Given the description of an element on the screen output the (x, y) to click on. 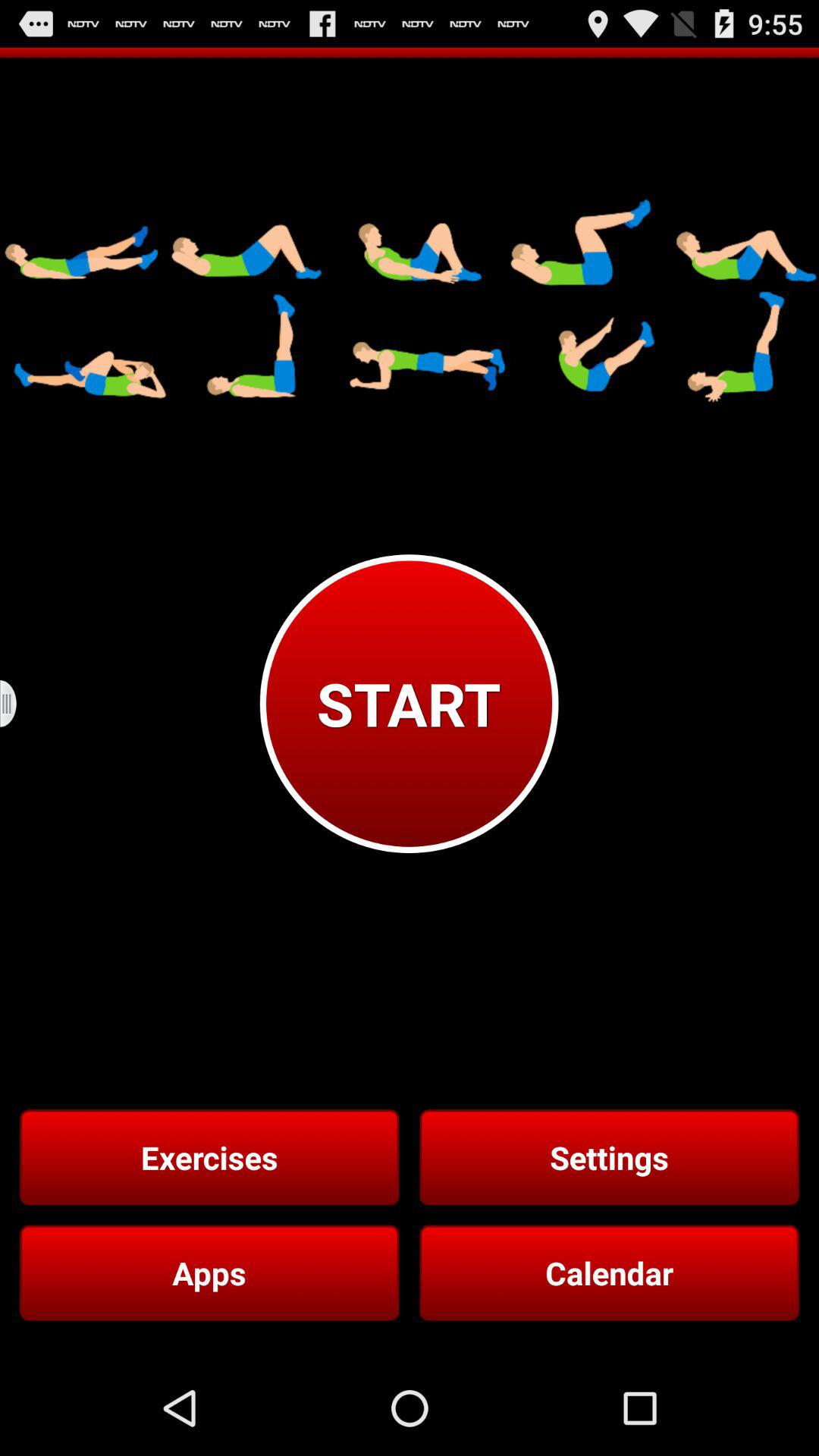
tap button above the apps item (209, 1157)
